Given the description of an element on the screen output the (x, y) to click on. 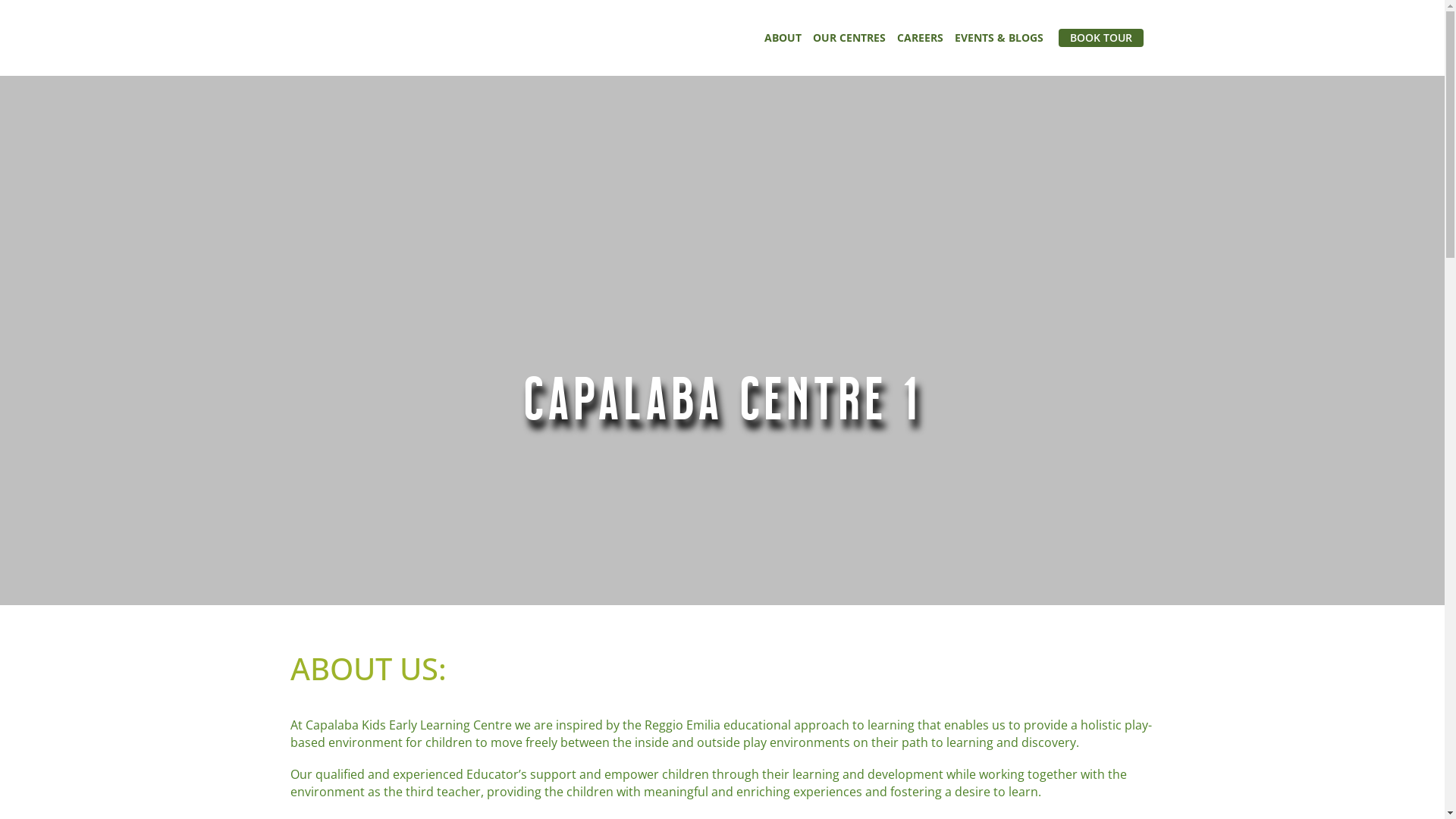
CAREERS Element type: text (919, 37)
ABOUT Element type: text (782, 37)
EVENTS & BLOGS Element type: text (997, 37)
BOOK TOUR Element type: text (1100, 37)
OUR CENTRES Element type: text (848, 37)
